Given the description of an element on the screen output the (x, y) to click on. 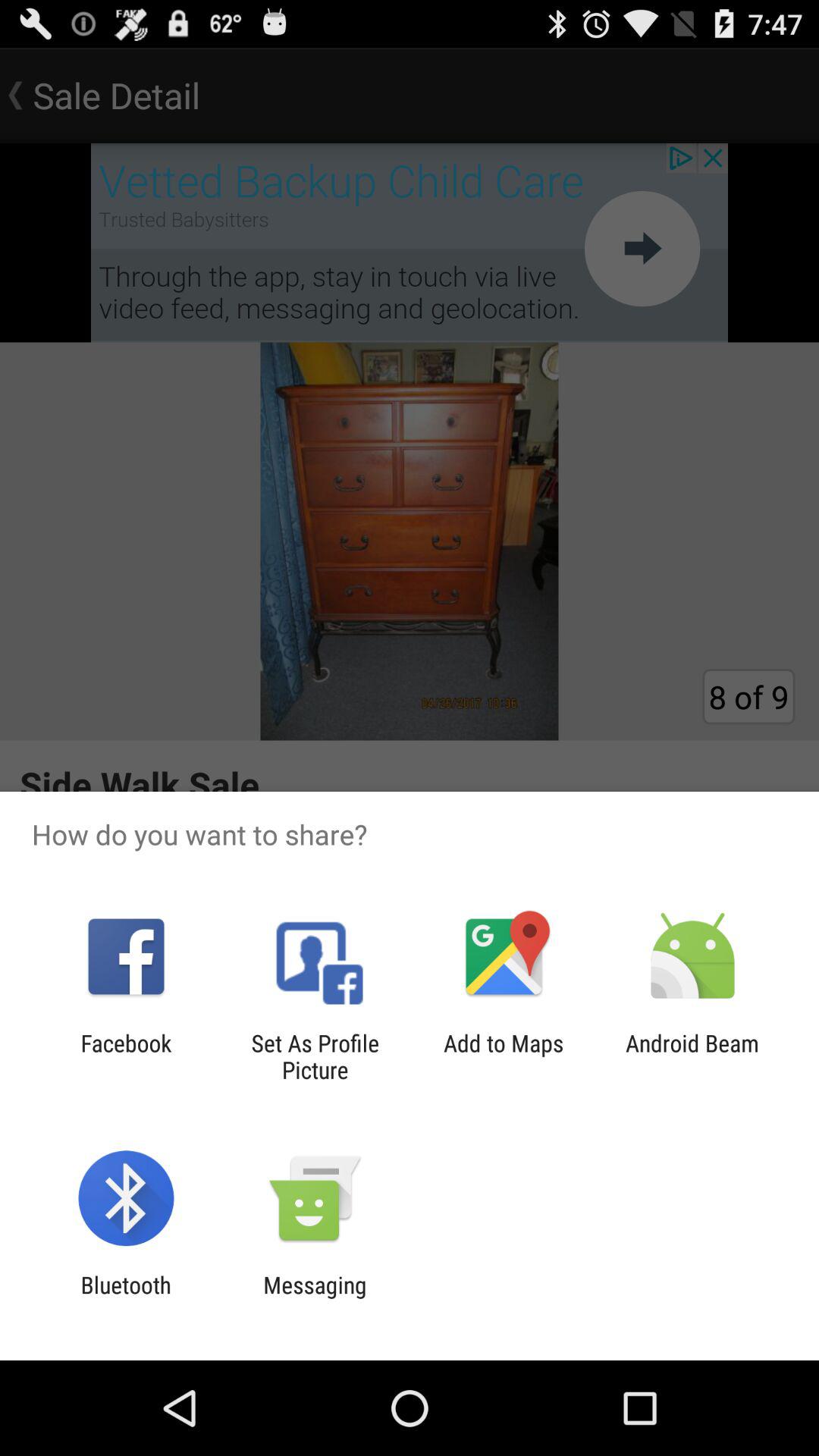
press the icon next to the bluetooth icon (314, 1298)
